Given the description of an element on the screen output the (x, y) to click on. 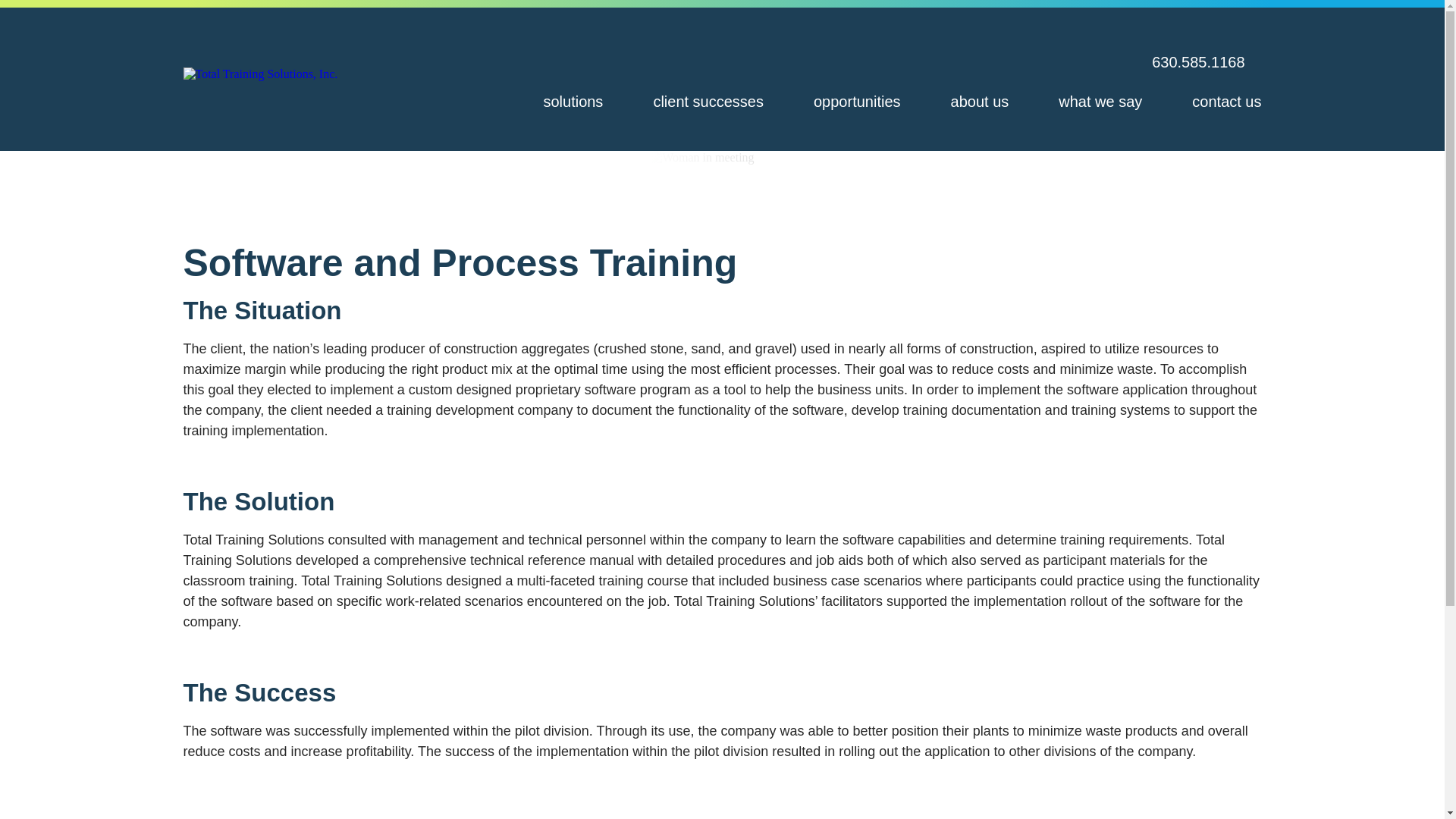
solutions (572, 101)
client successes (708, 101)
630.585.1168 (1195, 61)
